Given the description of an element on the screen output the (x, y) to click on. 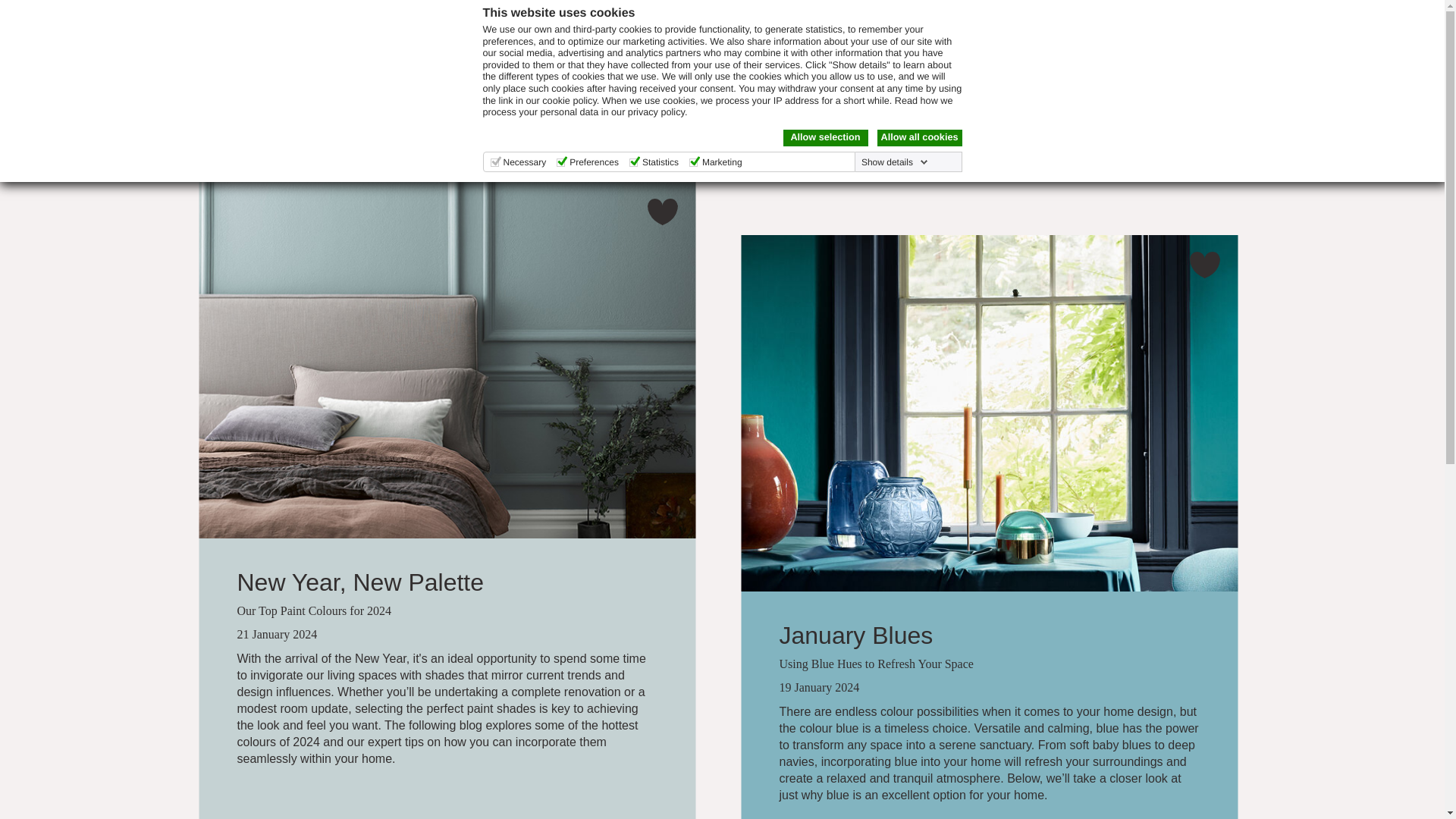
Show details (895, 162)
Allow all cookies (918, 137)
Allow selection (825, 137)
